Given the description of an element on the screen output the (x, y) to click on. 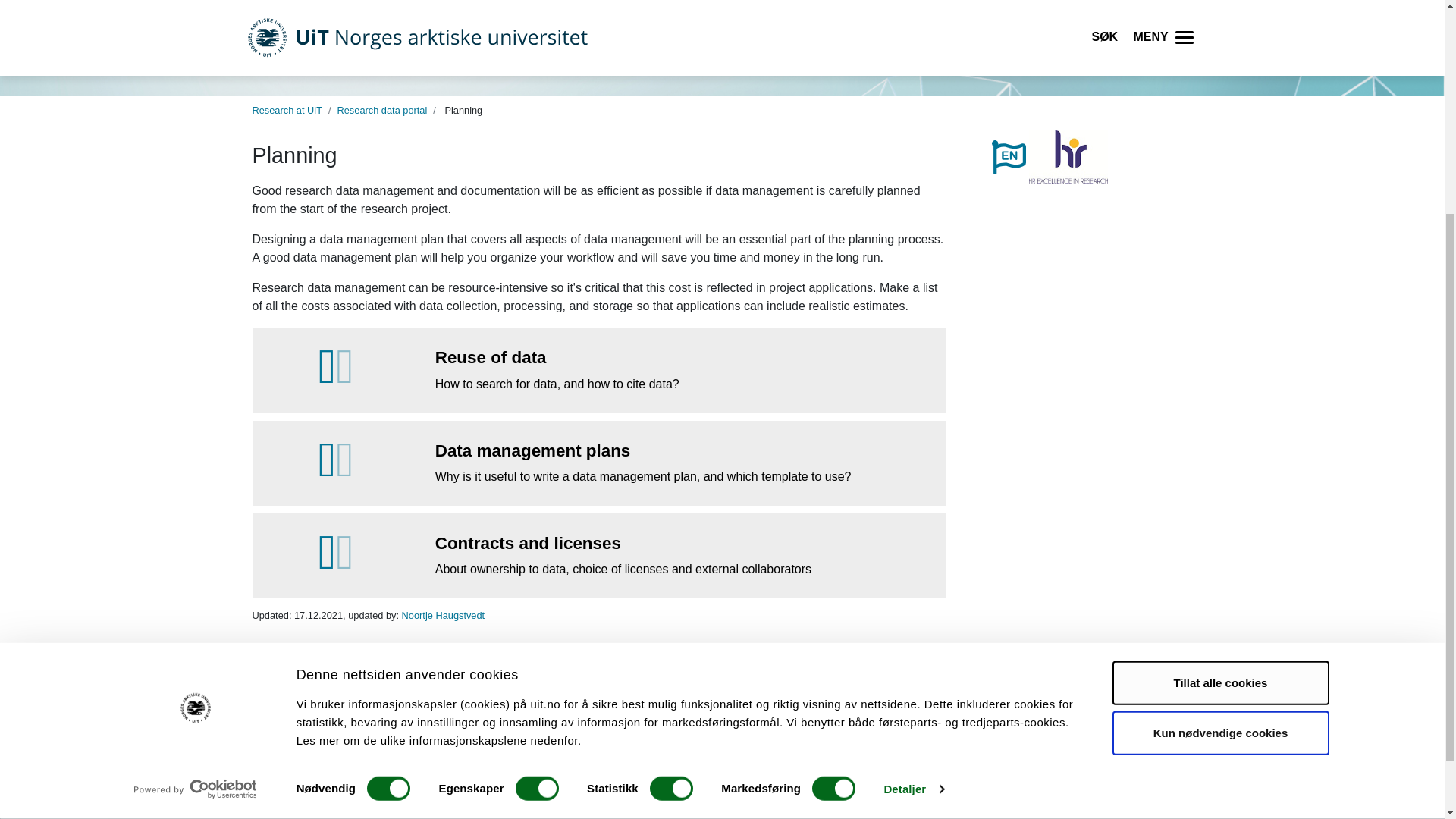
Detaljer (913, 486)
